Given the description of an element on the screen output the (x, y) to click on. 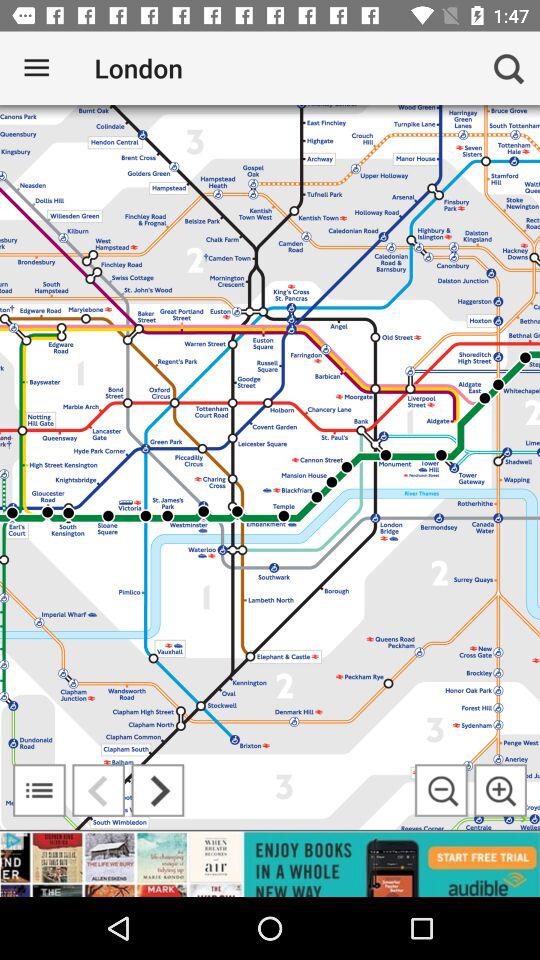
menu (39, 790)
